Given the description of an element on the screen output the (x, y) to click on. 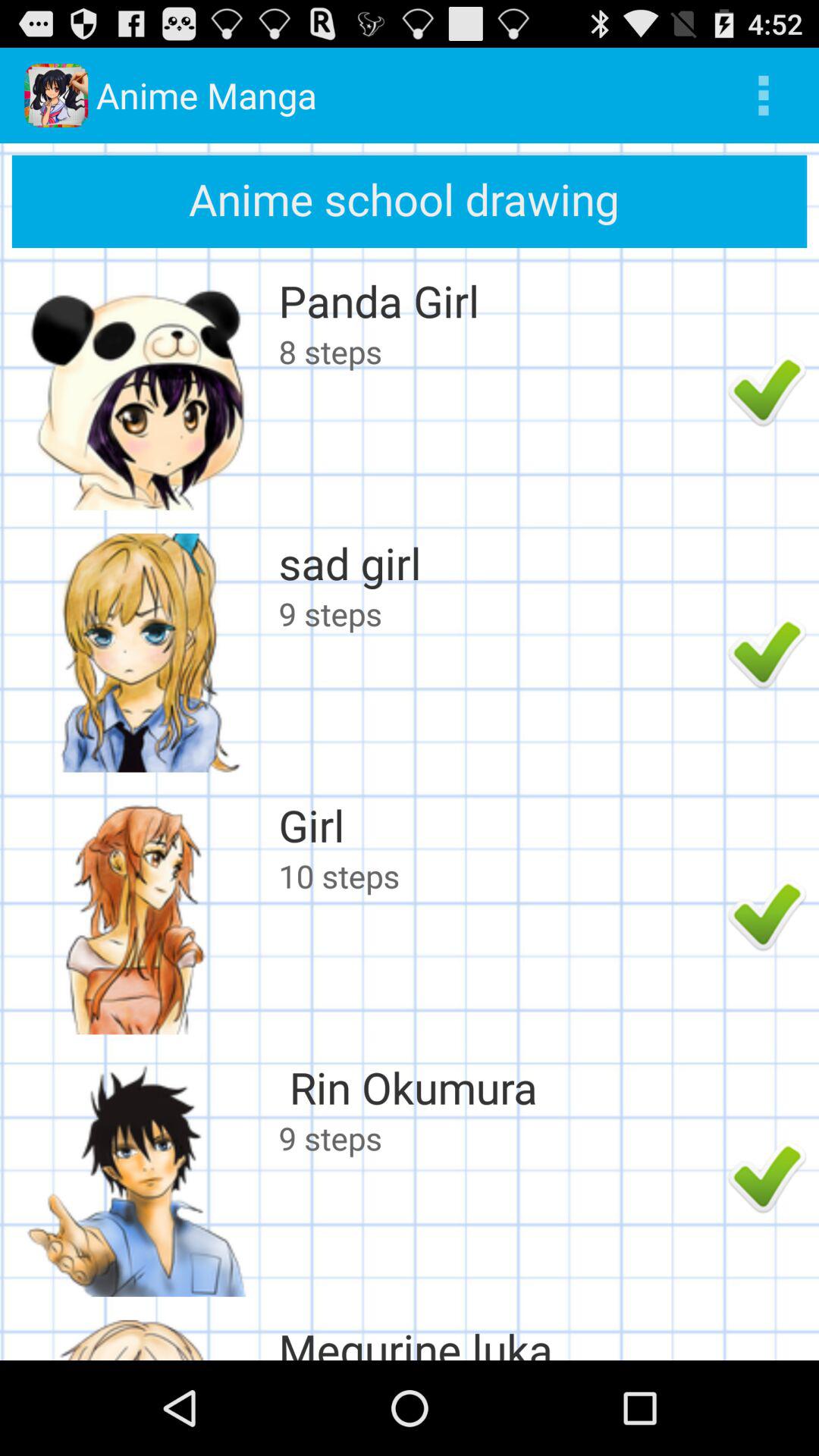
jump to the megurine luka app (498, 1340)
